Given the description of an element on the screen output the (x, y) to click on. 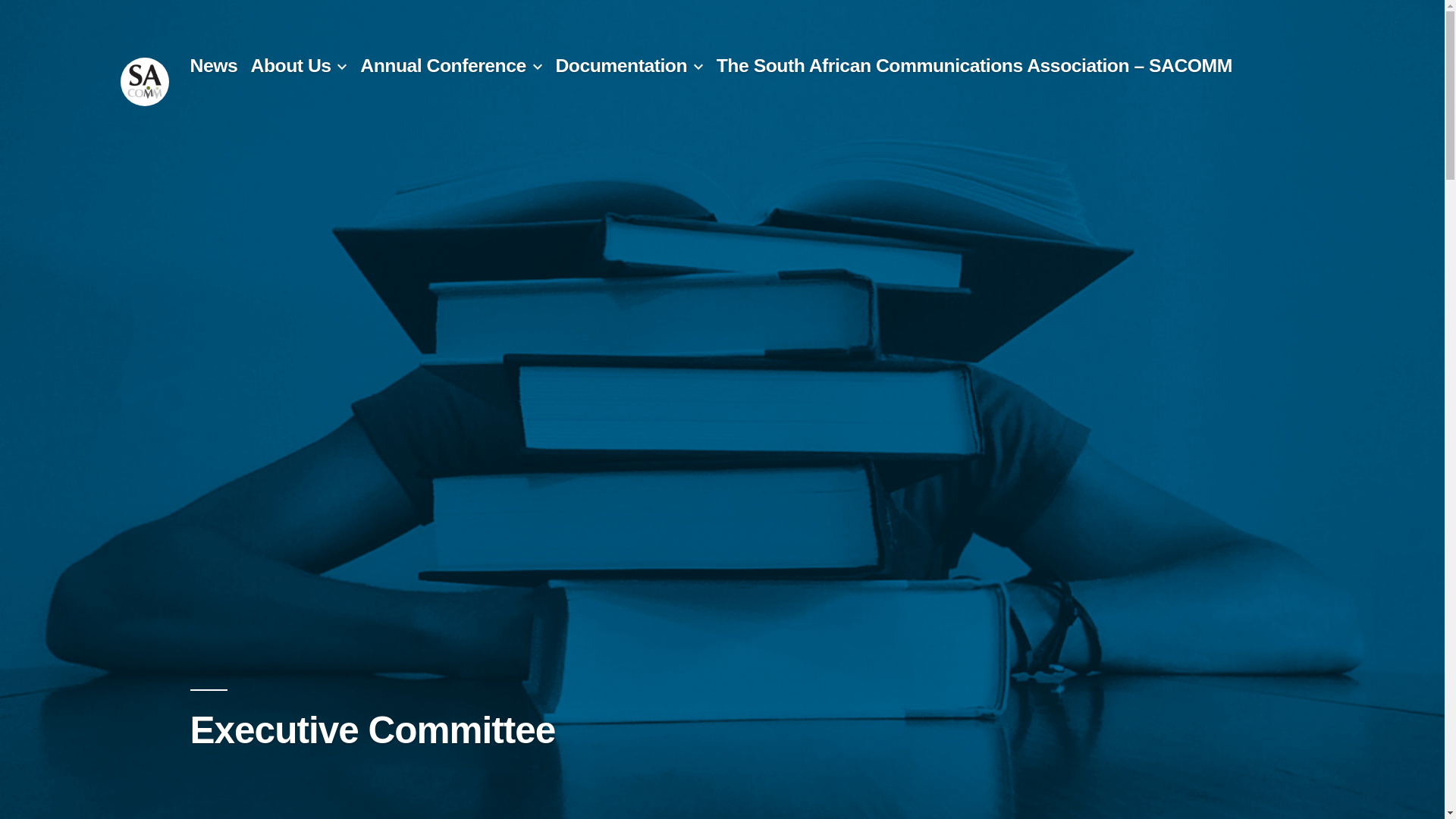
News (213, 64)
Annual Conference (442, 64)
Documentation (620, 64)
About Us (290, 64)
